Given the description of an element on the screen output the (x, y) to click on. 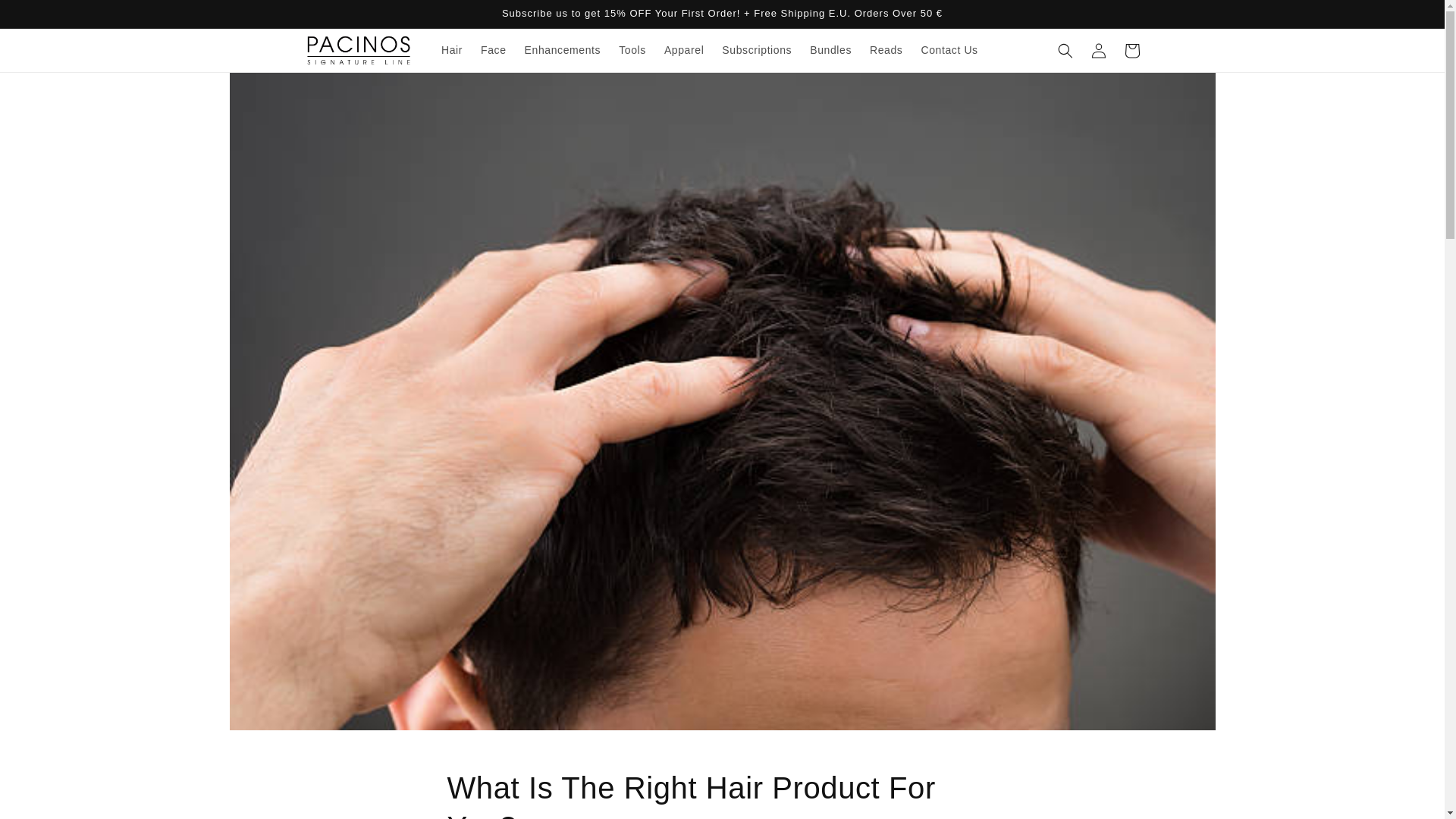
Face (493, 50)
Reads (885, 50)
Log in (1098, 50)
Contact Us (949, 50)
Cart (1131, 50)
Tools (632, 50)
Enhancements (562, 50)
Apparel (684, 50)
Hair (451, 50)
Subscriptions (756, 50)
